Given the description of an element on the screen output the (x, y) to click on. 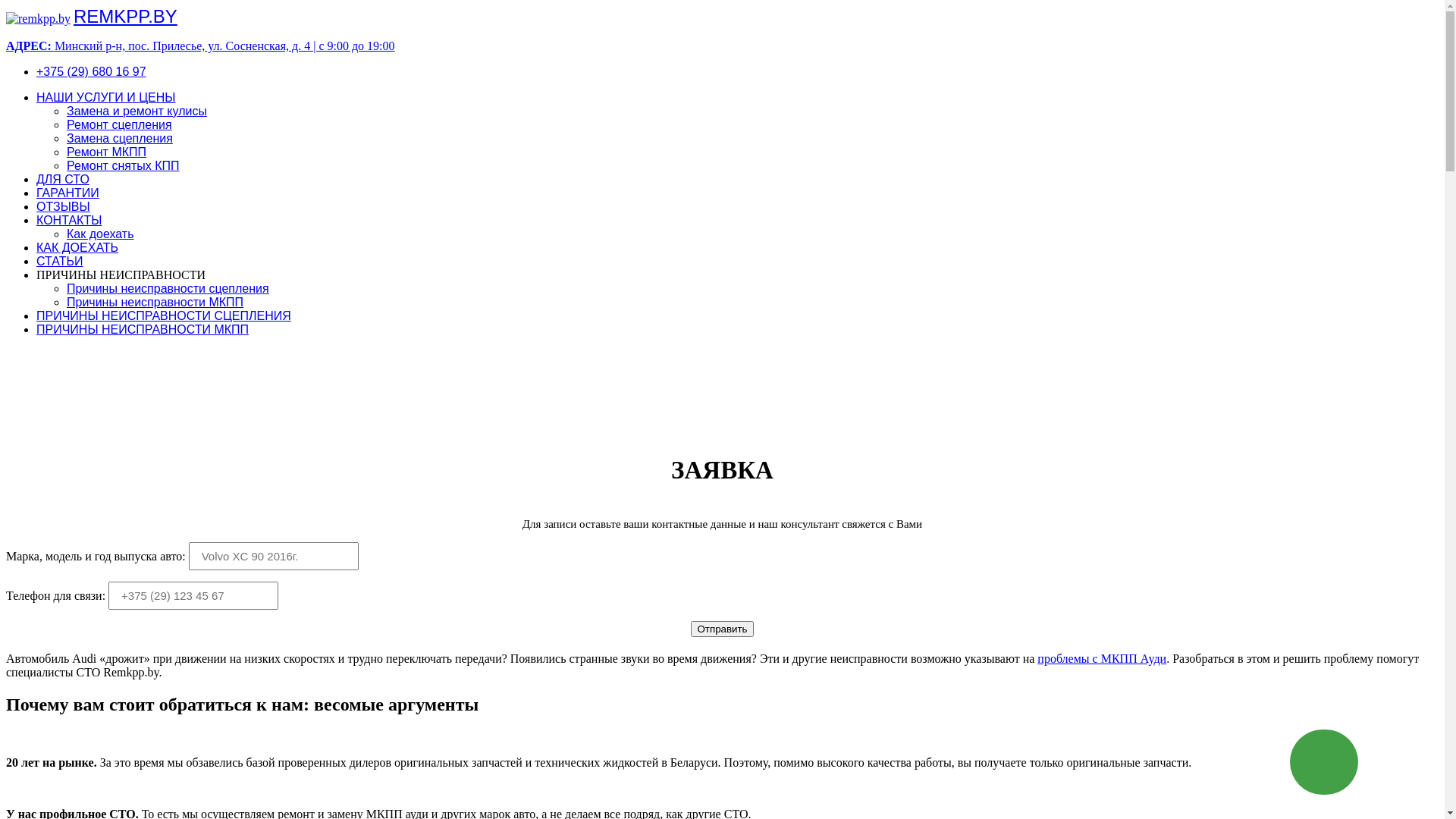
REMKPP.BY Element type: text (125, 16)
+375 (29) 680 16 97 Element type: text (91, 71)
